Given the description of an element on the screen output the (x, y) to click on. 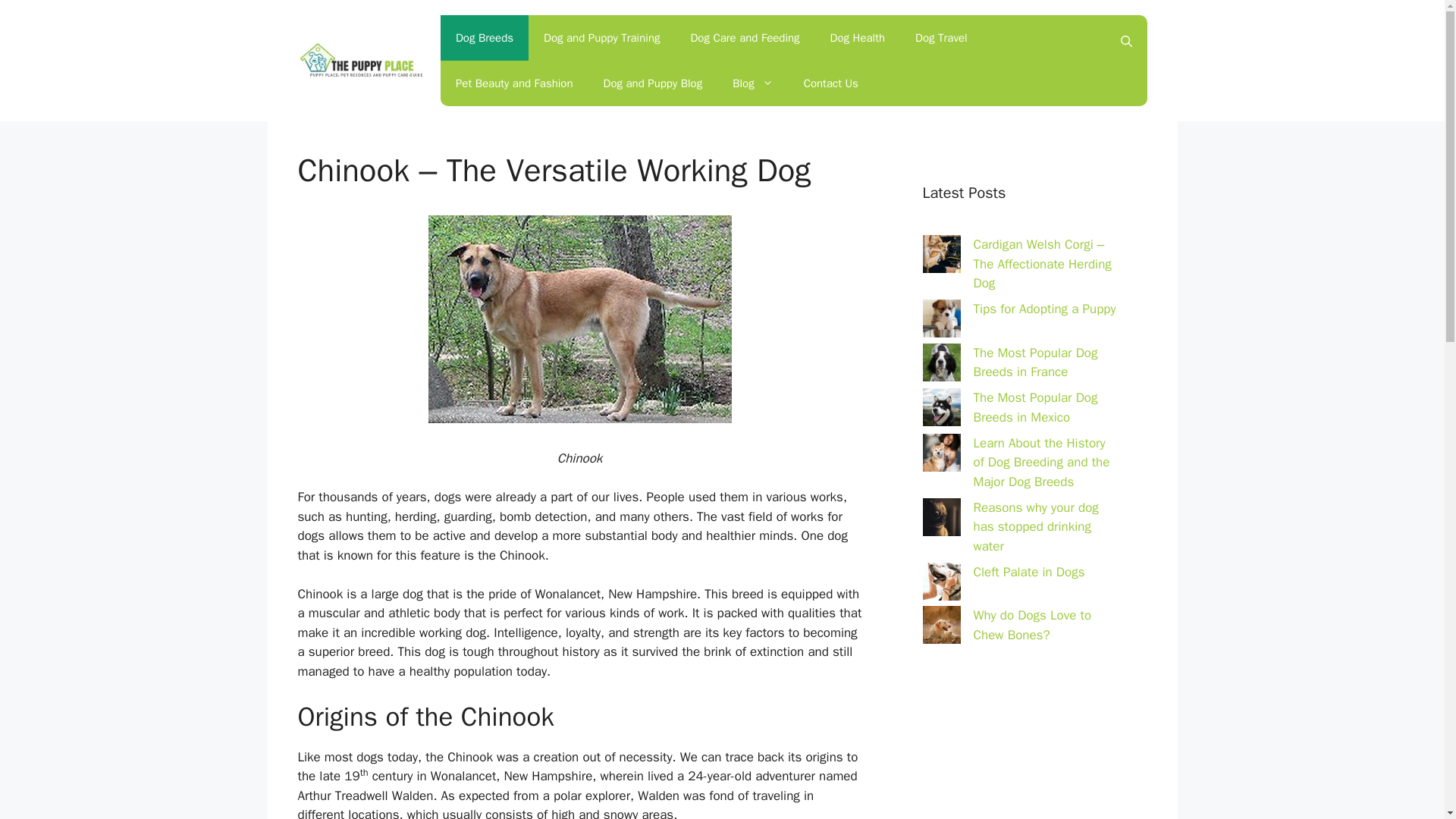
Why do Dogs Love to Chew Bones? (1033, 624)
Tips for Adopting a Puppy (1045, 308)
Cleft Palate in Dogs (1029, 571)
Dog Travel (940, 37)
Dog and Puppy Blog (652, 83)
The Most Popular Dog Breeds in France (1035, 361)
Dog Breeds (484, 37)
The Most Popular Dog Breeds in Mexico (1035, 407)
Pet Beauty and Fashion (514, 83)
Contact Us (831, 83)
Dog Care and Feeding (744, 37)
Dog and Puppy Training (601, 37)
Reasons why your dog has stopped drinking water (1036, 525)
Blog (752, 83)
